Given the description of an element on the screen output the (x, y) to click on. 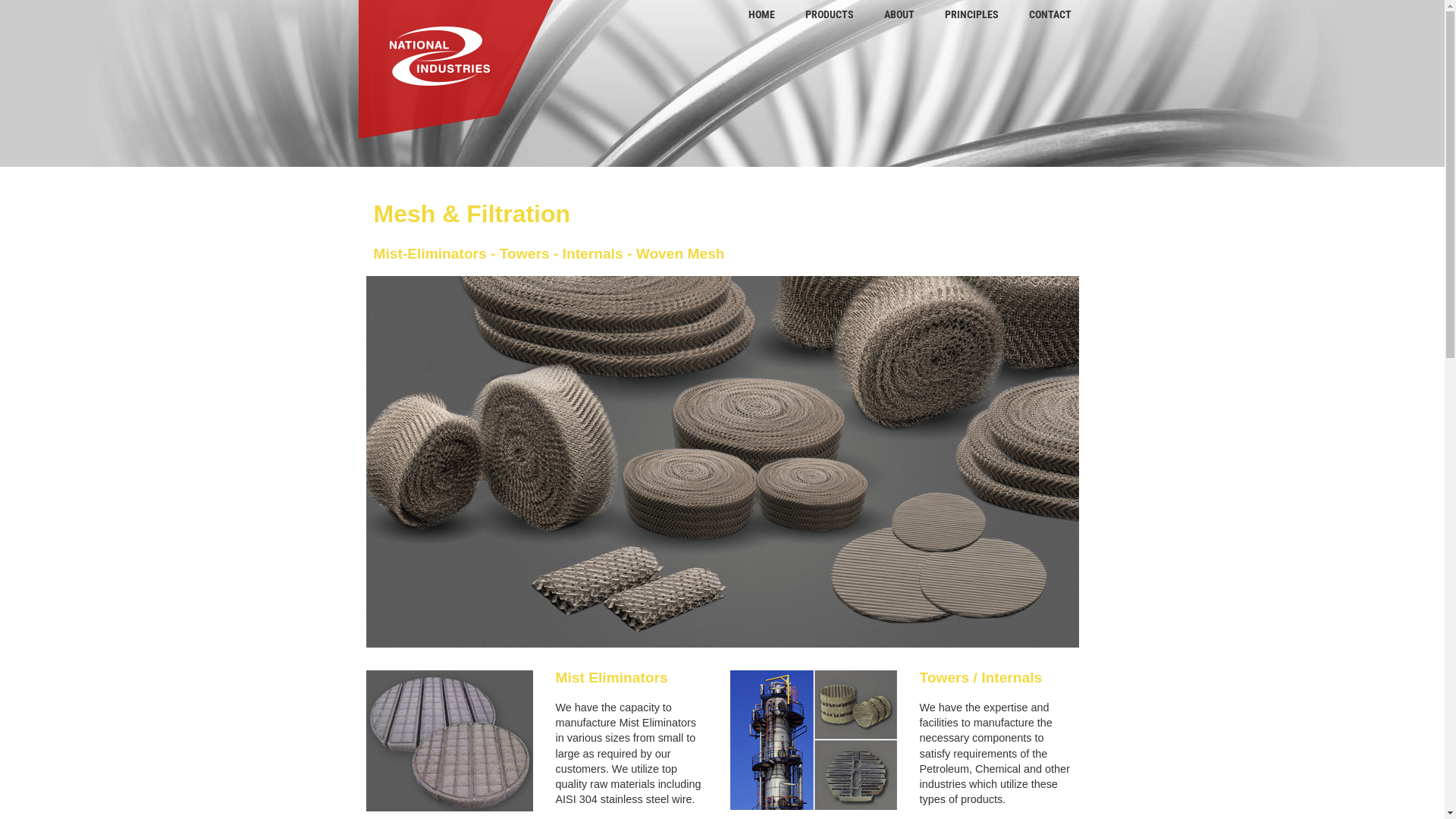
ABOUT Element type: text (899, 15)
PRODUCTS Element type: text (829, 15)
PRINCIPLES Element type: text (971, 15)
HOME Element type: text (760, 15)
CONTACT Element type: text (1049, 15)
